Given the description of an element on the screen output the (x, y) to click on. 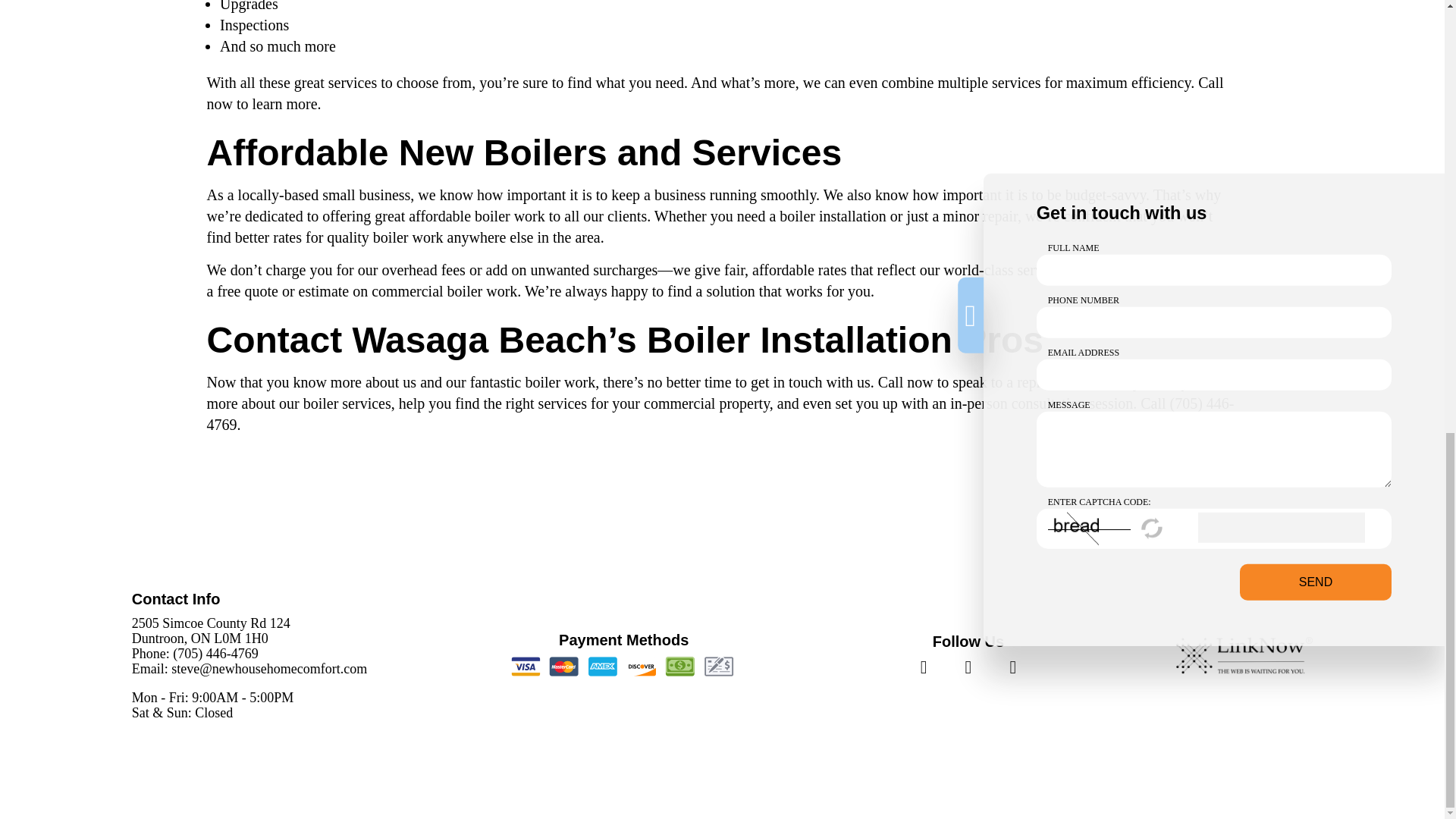
Mastercard (563, 666)
Cash (679, 666)
Visa (525, 666)
Check (719, 666)
Discover (642, 666)
American Express (602, 666)
